Given the description of an element on the screen output the (x, y) to click on. 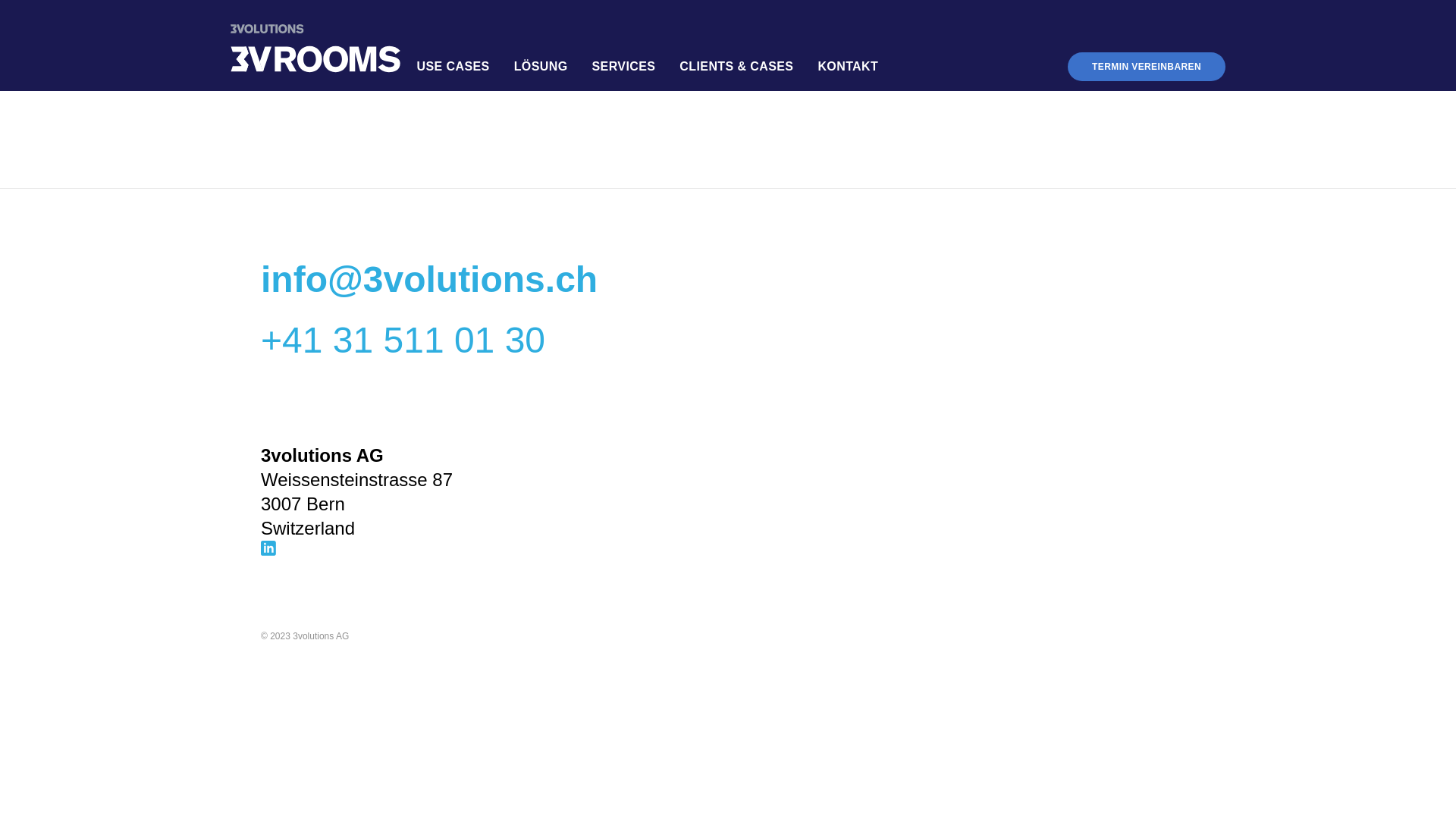
+41 31 511 01 30 Element type: text (402, 340)
KONTAKT Element type: text (847, 65)
USE CASES Element type: text (453, 65)
SERVICES Element type: text (623, 65)
info@3volutions.ch Element type: text (428, 279)
TERMIN VEREINBAREN Element type: text (1146, 66)
CLIENTS & CASES Element type: text (736, 65)
